Given the description of an element on the screen output the (x, y) to click on. 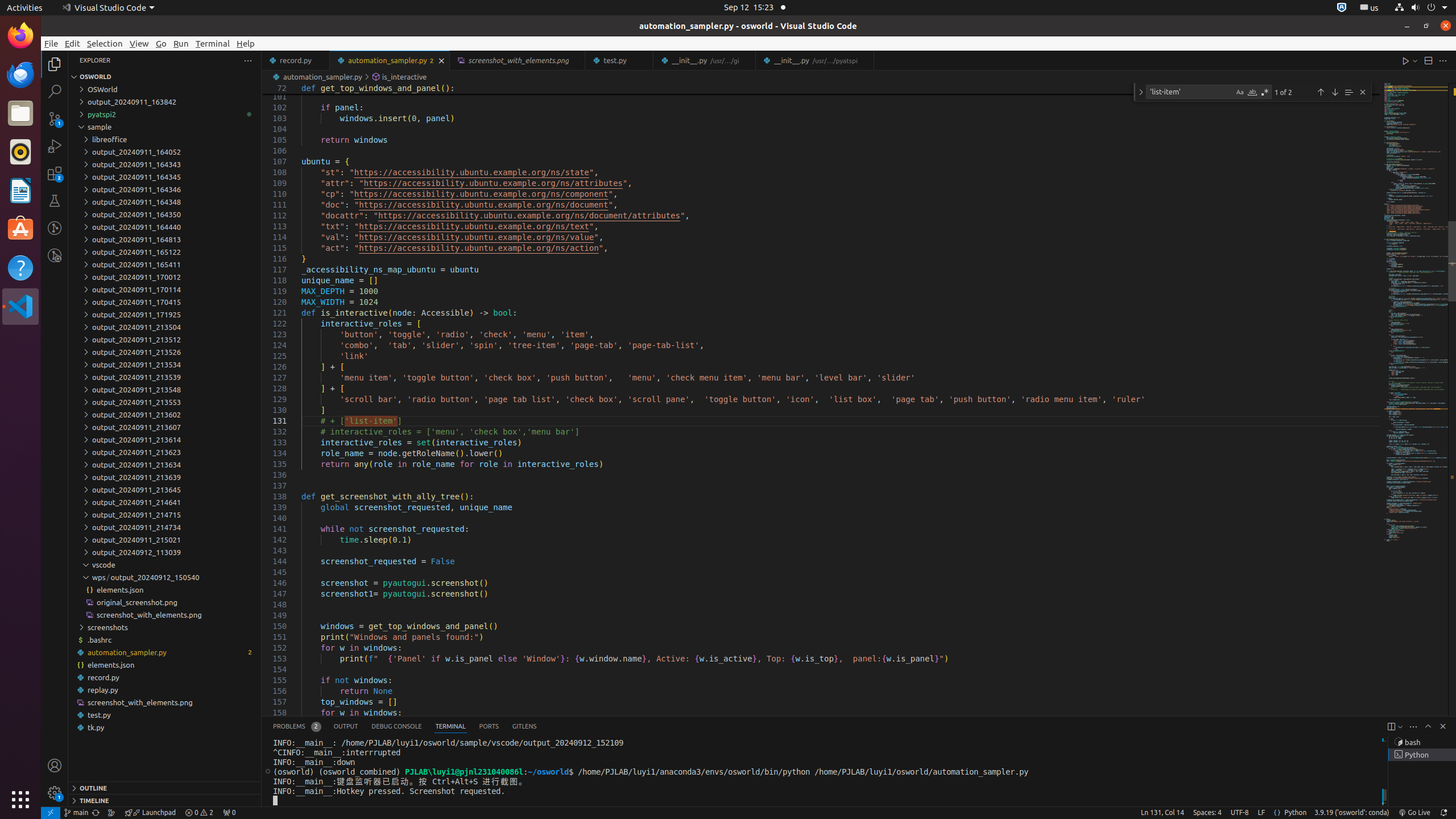
More Actions... Element type: push-button (1442, 60)
output_20240911_164343 Element type: tree-item (164, 164)
output_20240911_213614 Element type: tree-item (164, 439)
Editor Language Status: Auto Import Completions: false, next: Type Checking: off Element type: push-button (1277, 812)
output_20240911_213645 Element type: tree-item (164, 489)
